Given the description of an element on the screen output the (x, y) to click on. 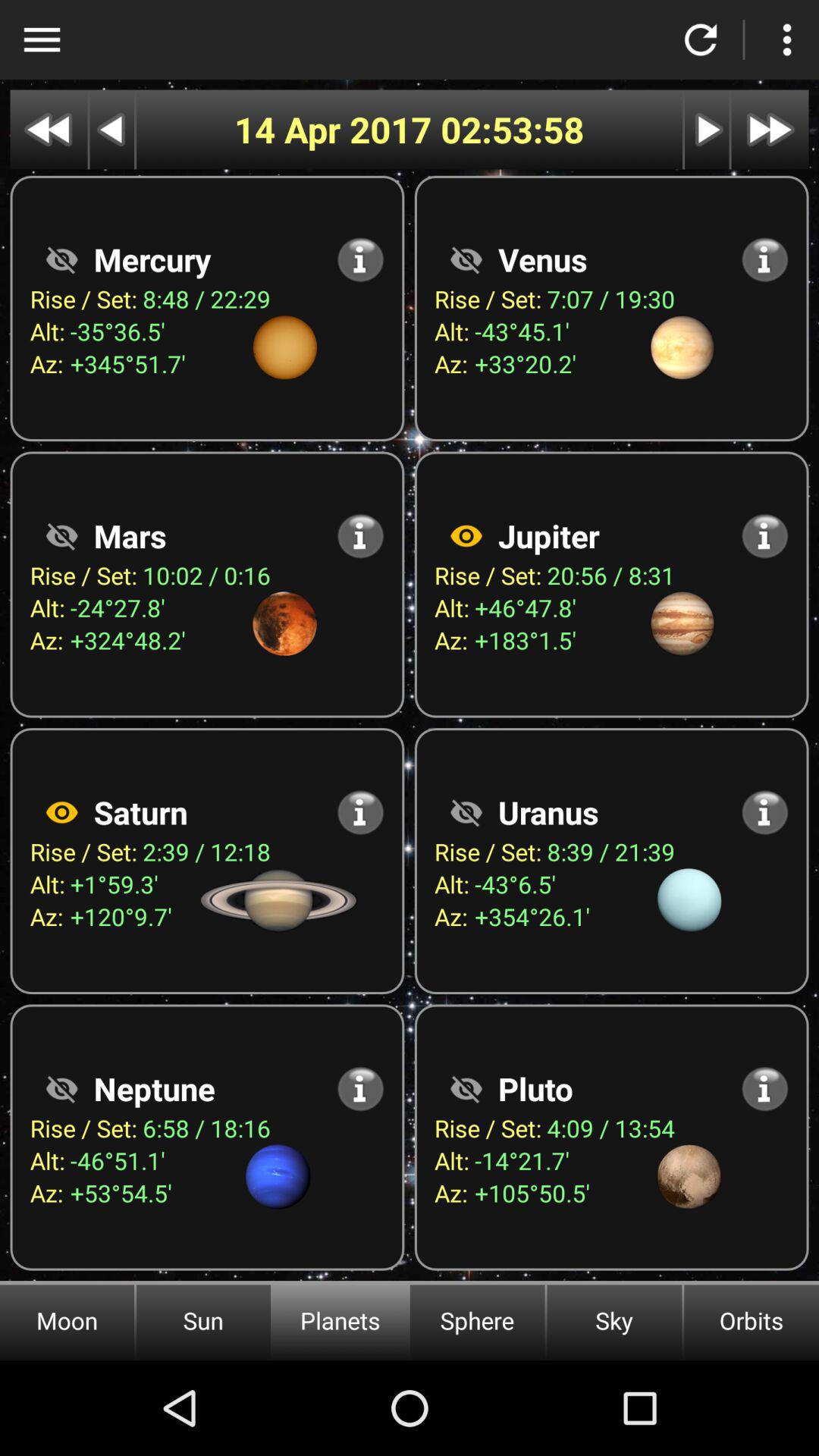
click the option (787, 39)
